Given the description of an element on the screen output the (x, y) to click on. 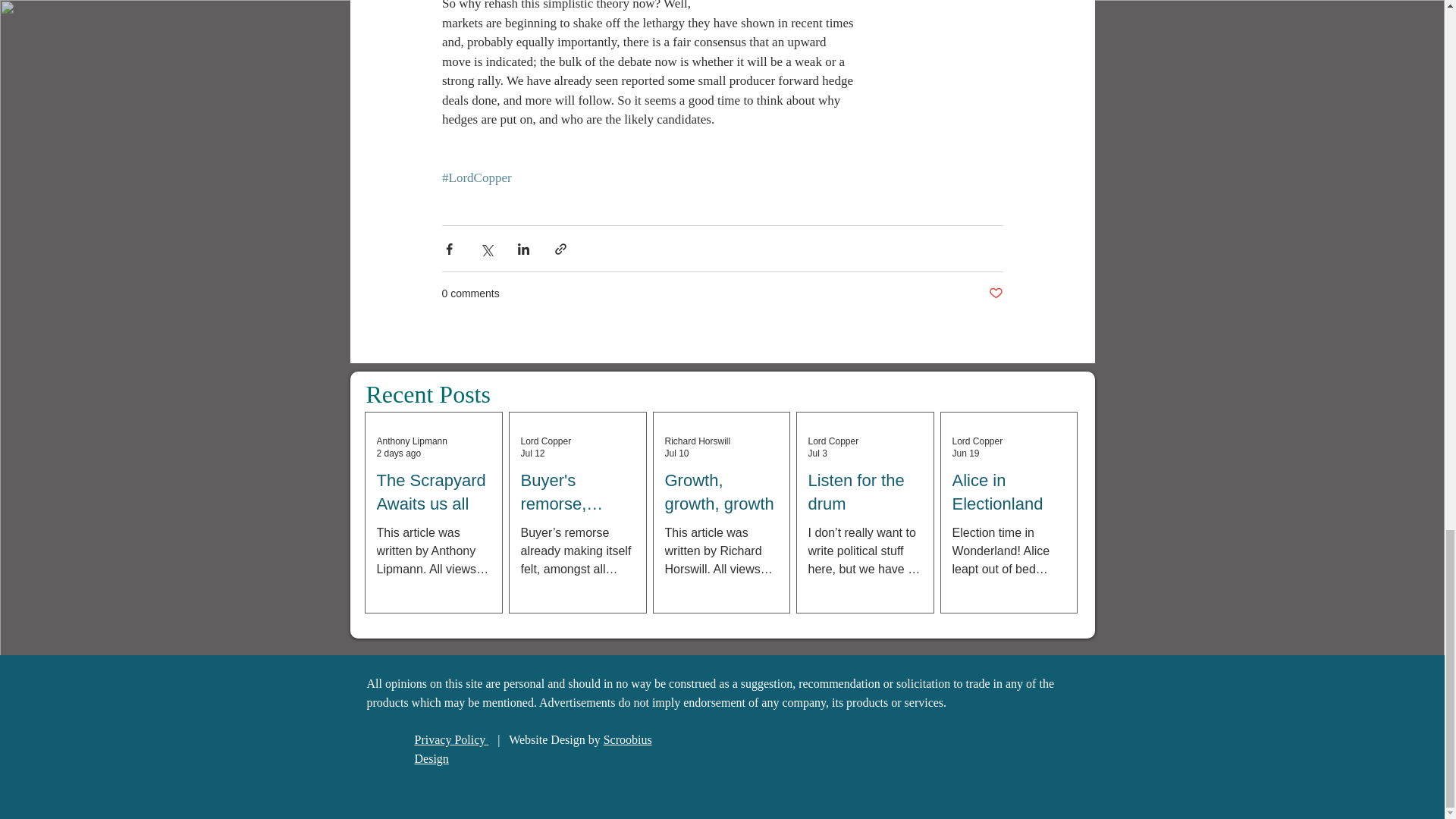
Lord Copper (833, 440)
Jul 3 (817, 452)
2 days ago (397, 452)
Richard Horswill (696, 440)
Privacy Policy  (450, 739)
Alice in Electionland (1008, 492)
Scroobius Design (531, 749)
Jun 19 (965, 452)
Listen for the drum (864, 492)
Lord Copper (544, 440)
Buyer's remorse, anyone? (576, 492)
Jul 12 (531, 452)
Growth, growth, growth (720, 492)
Jul 10 (675, 452)
Anthony Lipmann (410, 440)
